Given the description of an element on the screen output the (x, y) to click on. 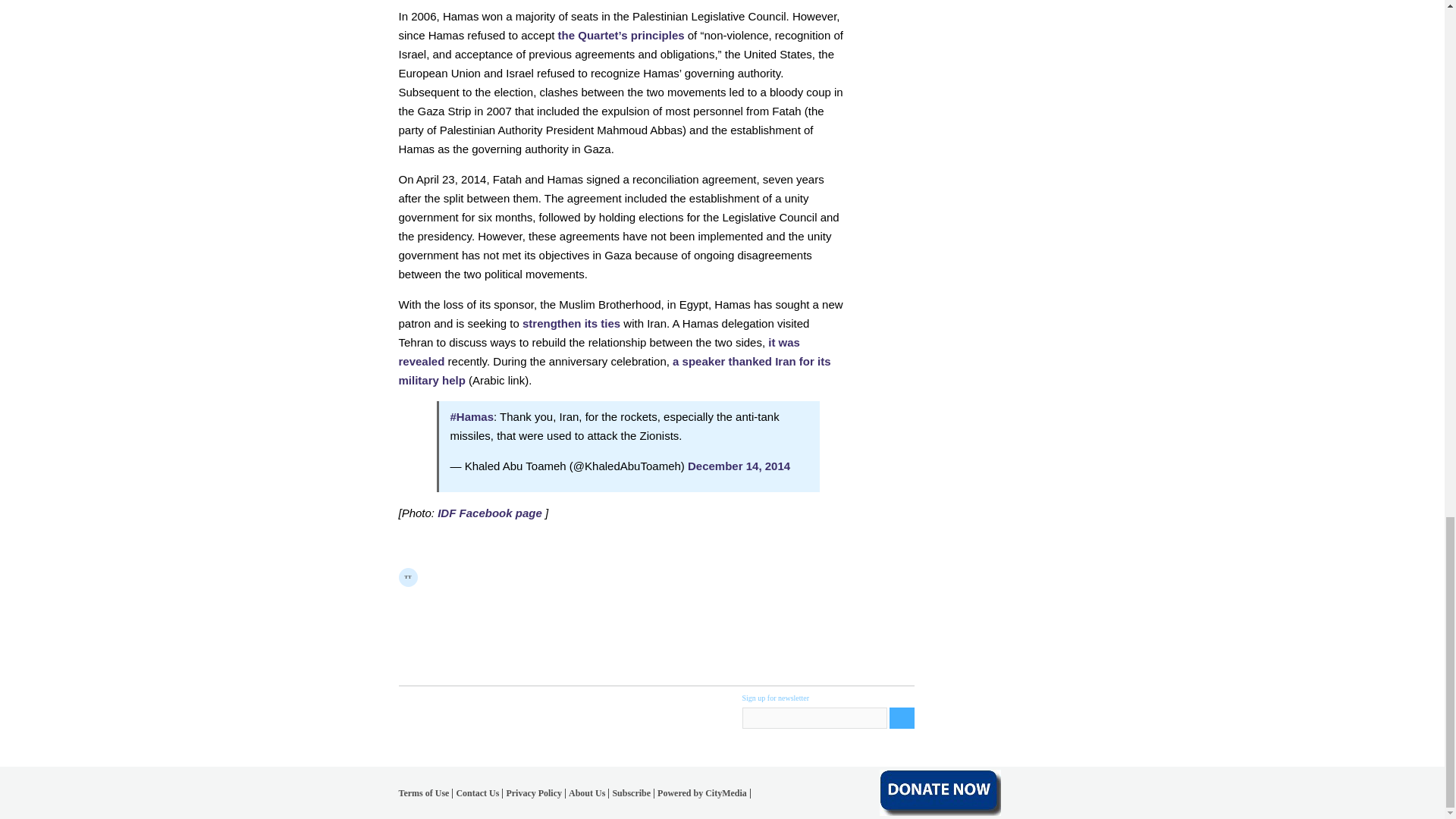
strengthen its ties (571, 323)
it was revealed (598, 351)
IDF Facebook page (489, 512)
December 14, 2014 (738, 465)
a speaker thanked Iran for its military help (614, 370)
Sign up for newsletter (813, 717)
TT (407, 577)
